Given the description of an element on the screen output the (x, y) to click on. 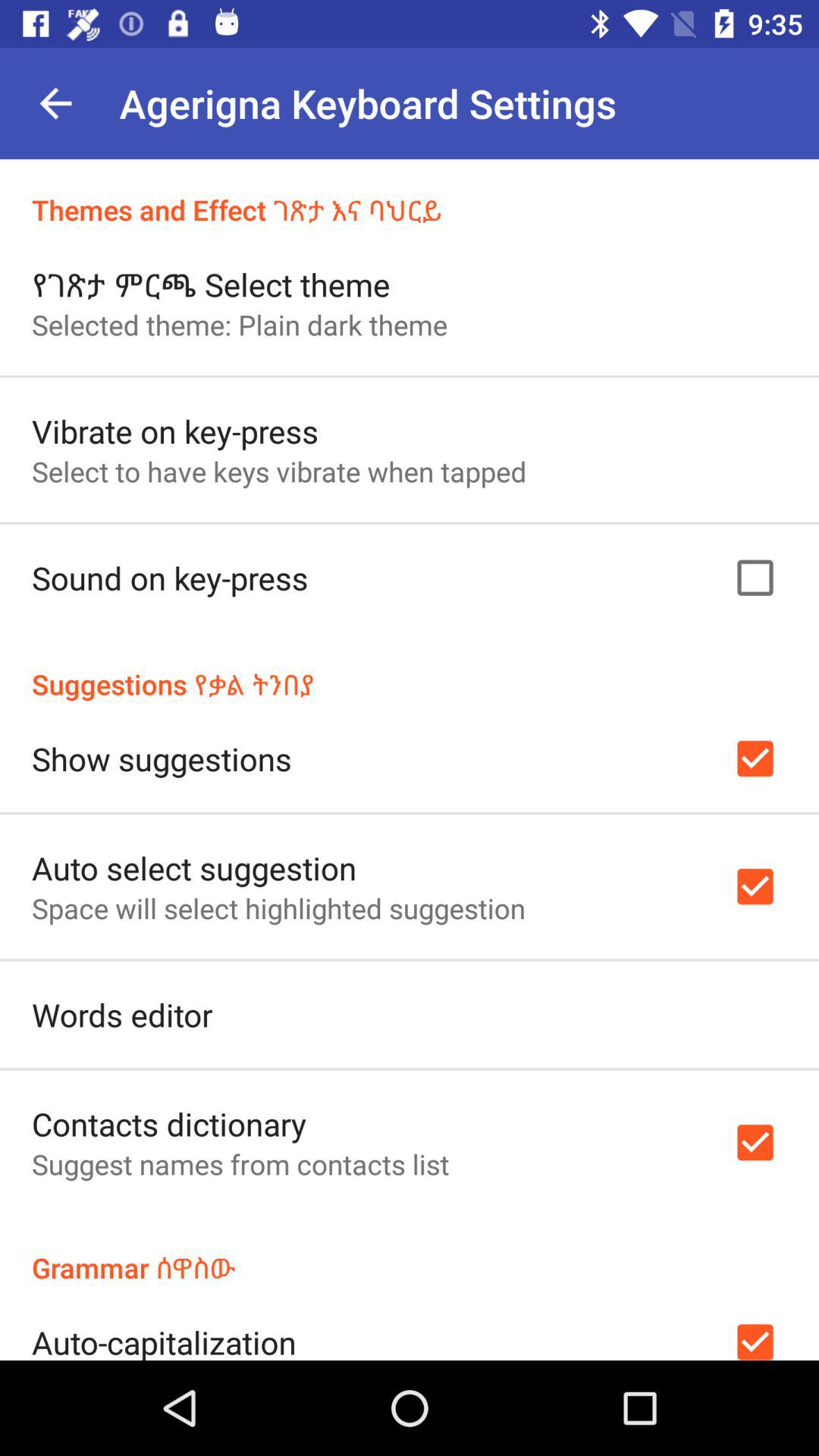
flip to suggest names from item (240, 1164)
